Given the description of an element on the screen output the (x, y) to click on. 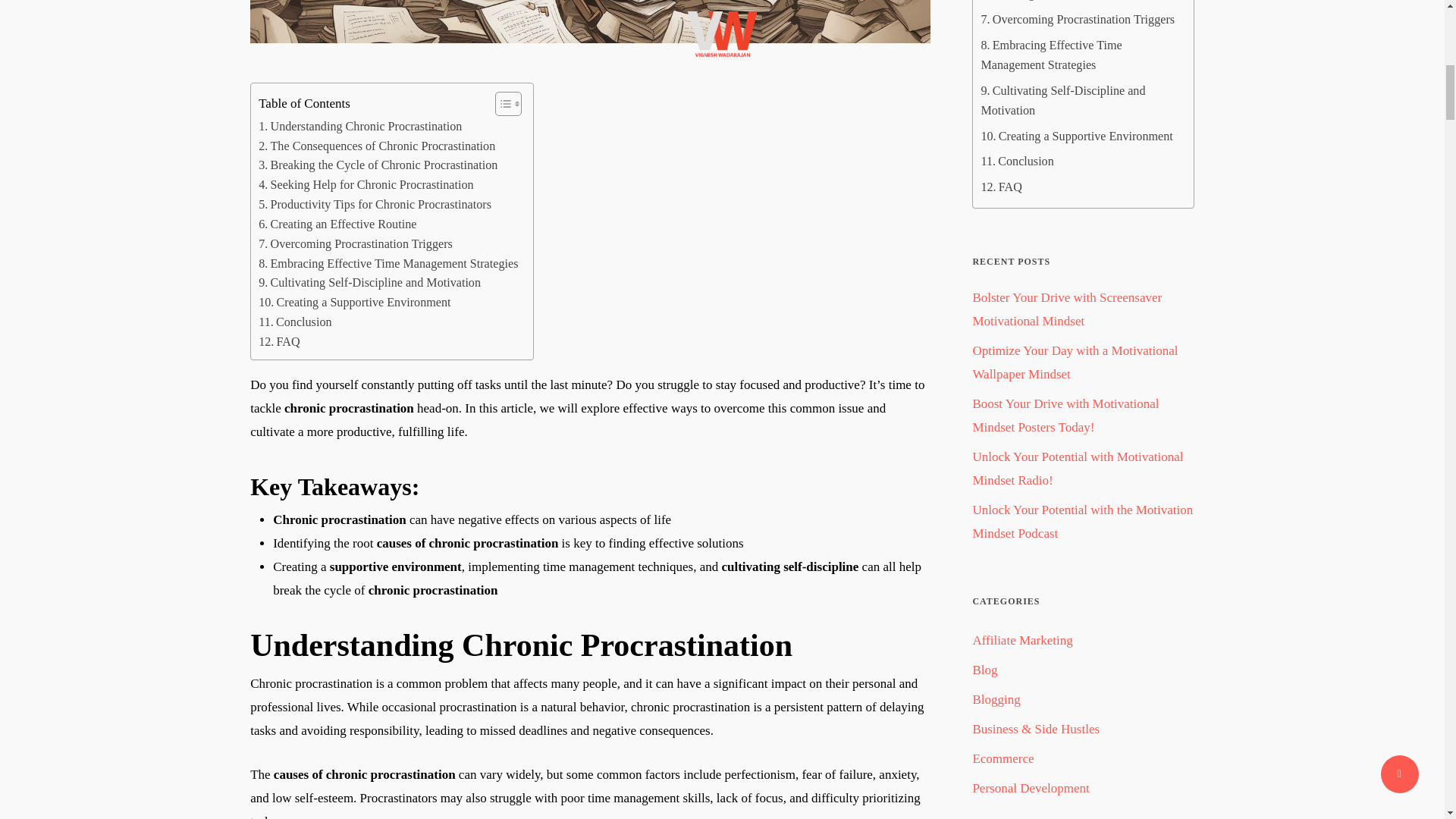
Overcoming Procrastination Triggers (355, 243)
Creating a Supportive Environment (354, 302)
Productivity Tips for Chronic Procrastinators (375, 204)
Conclusion (295, 322)
Understanding Chronic Procrastination (360, 126)
Overcoming Procrastination Triggers (355, 243)
Breaking the Cycle of Chronic Procrastination (378, 165)
Creating an Effective Routine (337, 224)
The Consequences of Chronic Procrastination (377, 146)
Productivity Tips for Chronic Procrastinators (375, 204)
Seeking Help for Chronic Procrastination (366, 184)
Embracing Effective Time Management Strategies (388, 263)
FAQ (279, 342)
Breaking the Cycle of Chronic Procrastination (378, 165)
Understanding Chronic Procrastination (360, 126)
